Given the description of an element on the screen output the (x, y) to click on. 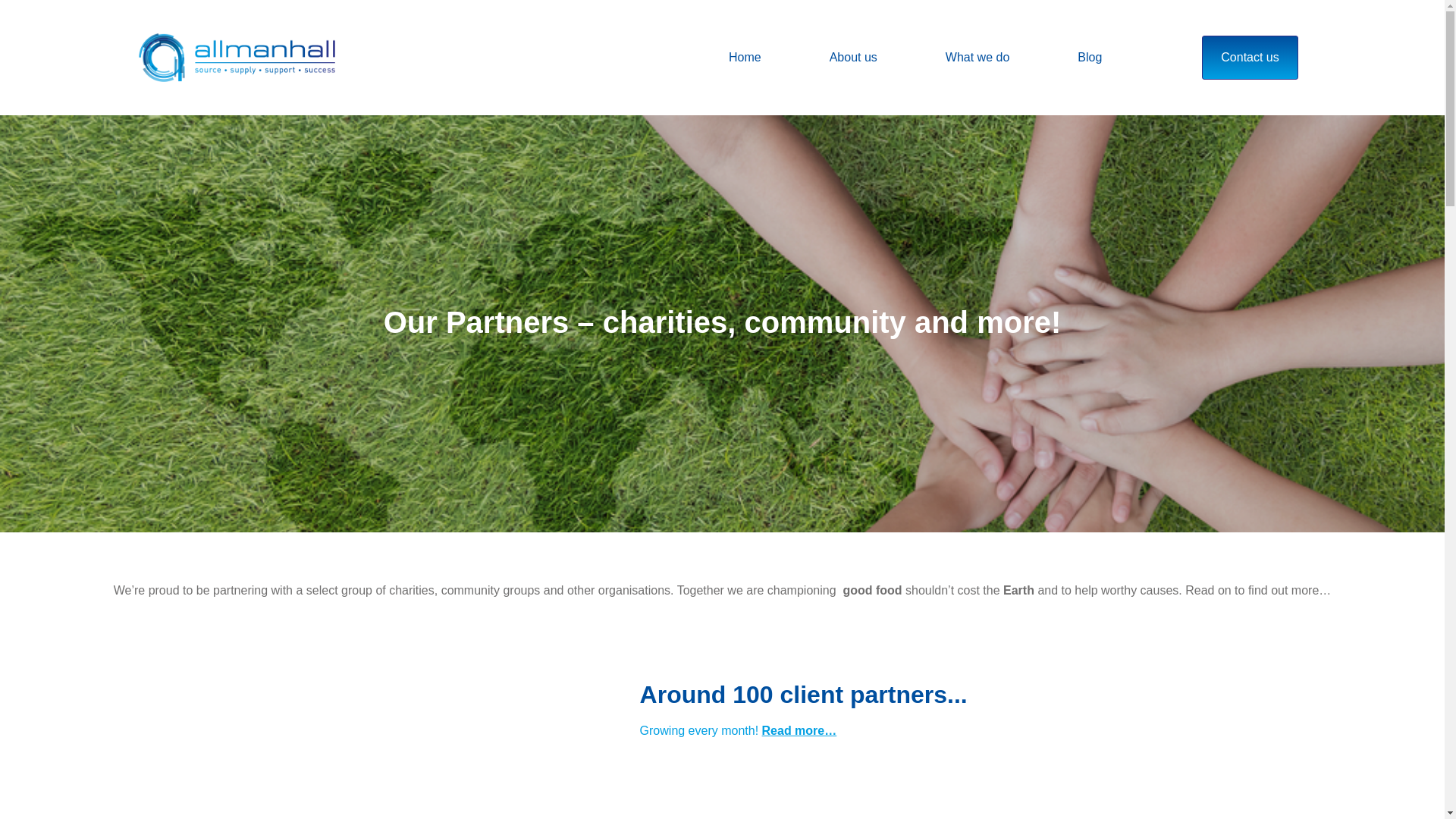
About us (852, 57)
Contact us (1249, 57)
Blog (1089, 57)
What we do (977, 57)
Home (744, 57)
